Given the description of an element on the screen output the (x, y) to click on. 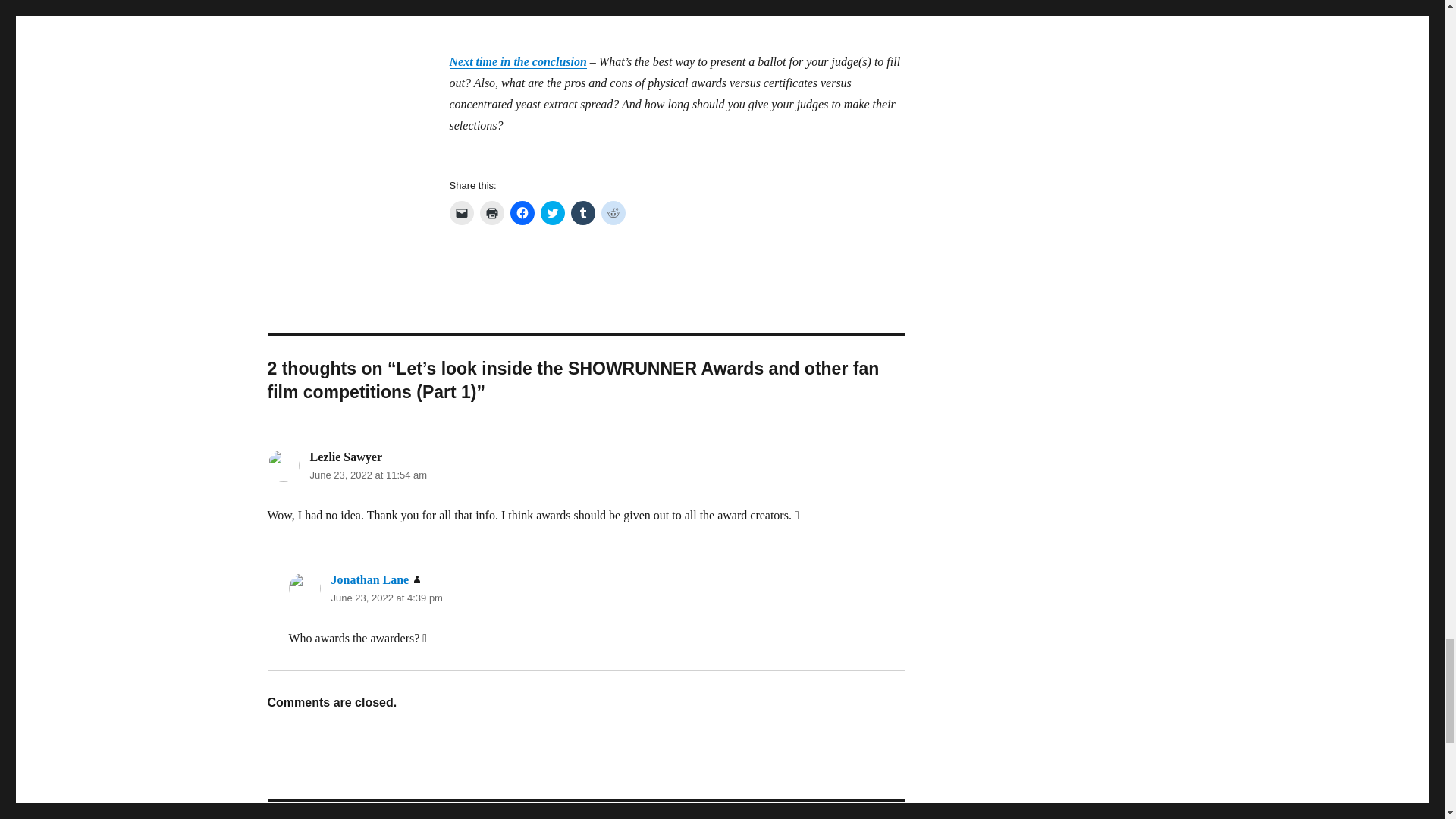
Click to print (491, 212)
Click to share on Reddit (611, 212)
Click to share on Facebook (521, 212)
Click to email a link to a friend (460, 212)
Click to share on Twitter (552, 212)
Click to share on Tumblr (582, 212)
Next time in the conclusion (517, 61)
